Given the description of an element on the screen output the (x, y) to click on. 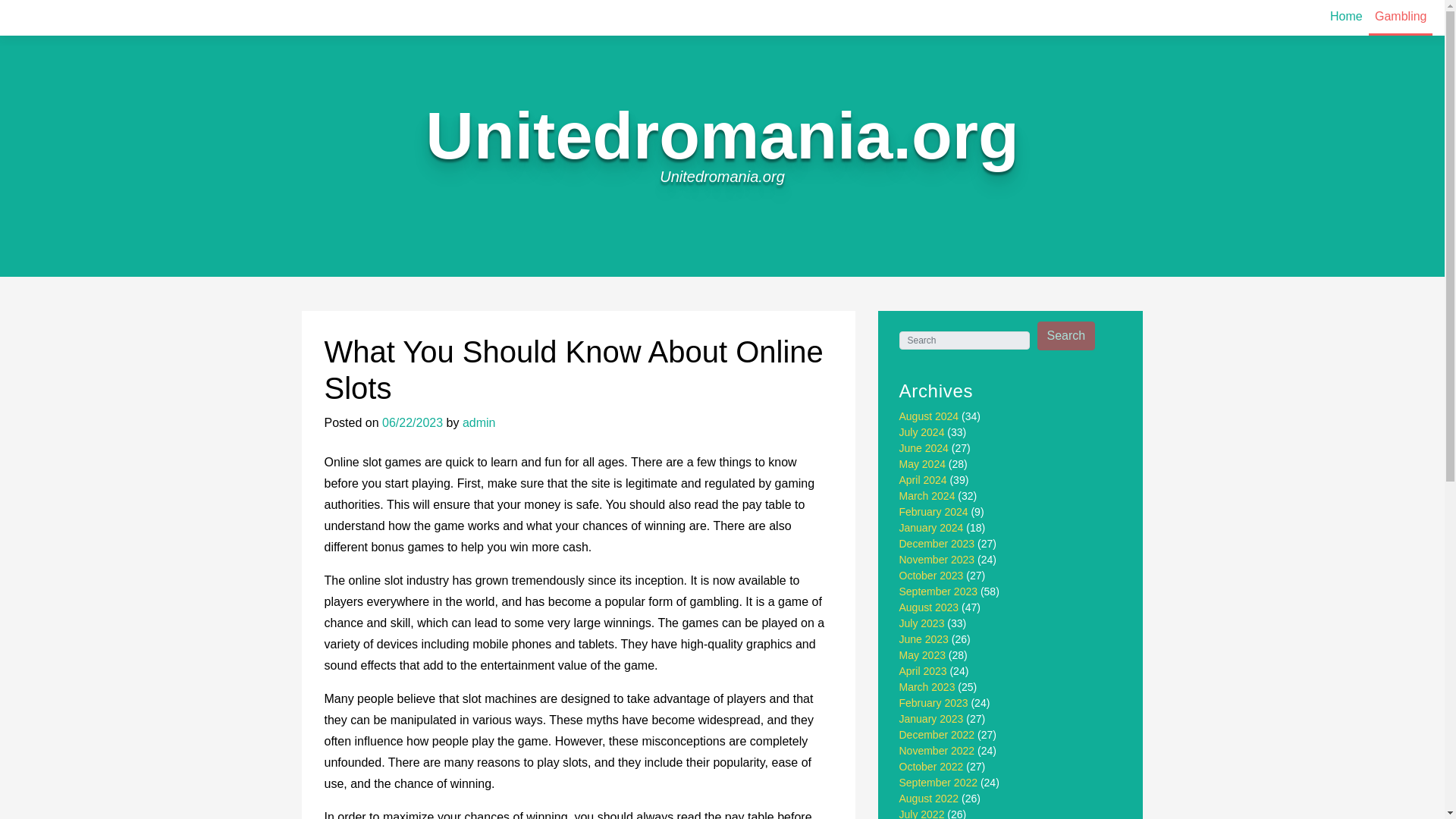
Gambling (1400, 18)
July 2023 (921, 623)
June 2023 (924, 639)
November 2023 (937, 559)
September 2022 (938, 782)
December 2023 (937, 543)
Home (1345, 16)
October 2023 (931, 575)
November 2022 (937, 750)
May 2024 (921, 463)
